Given the description of an element on the screen output the (x, y) to click on. 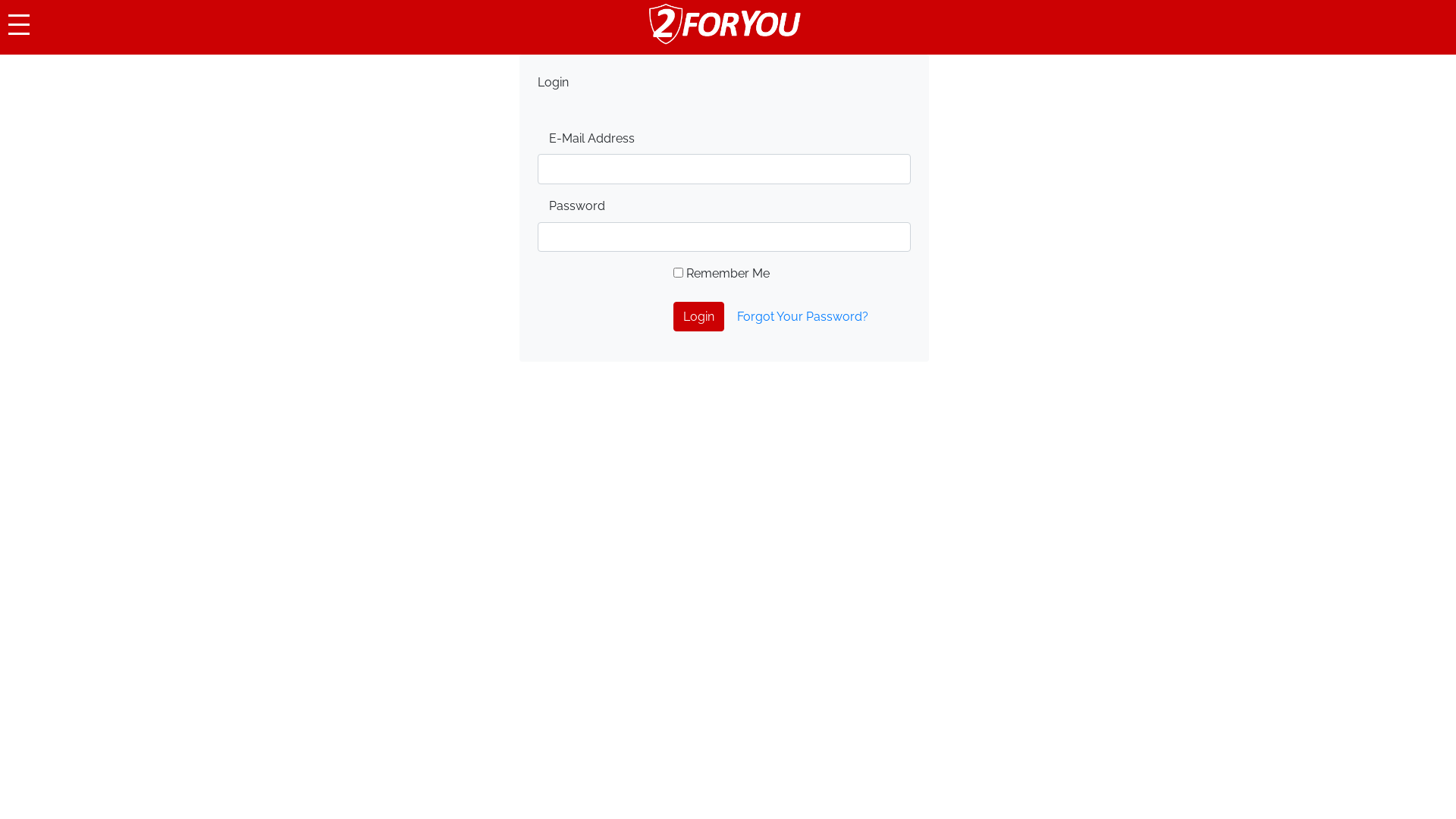
Forgot Your Password? Element type: text (802, 316)
Login Element type: text (698, 316)
